Given the description of an element on the screen output the (x, y) to click on. 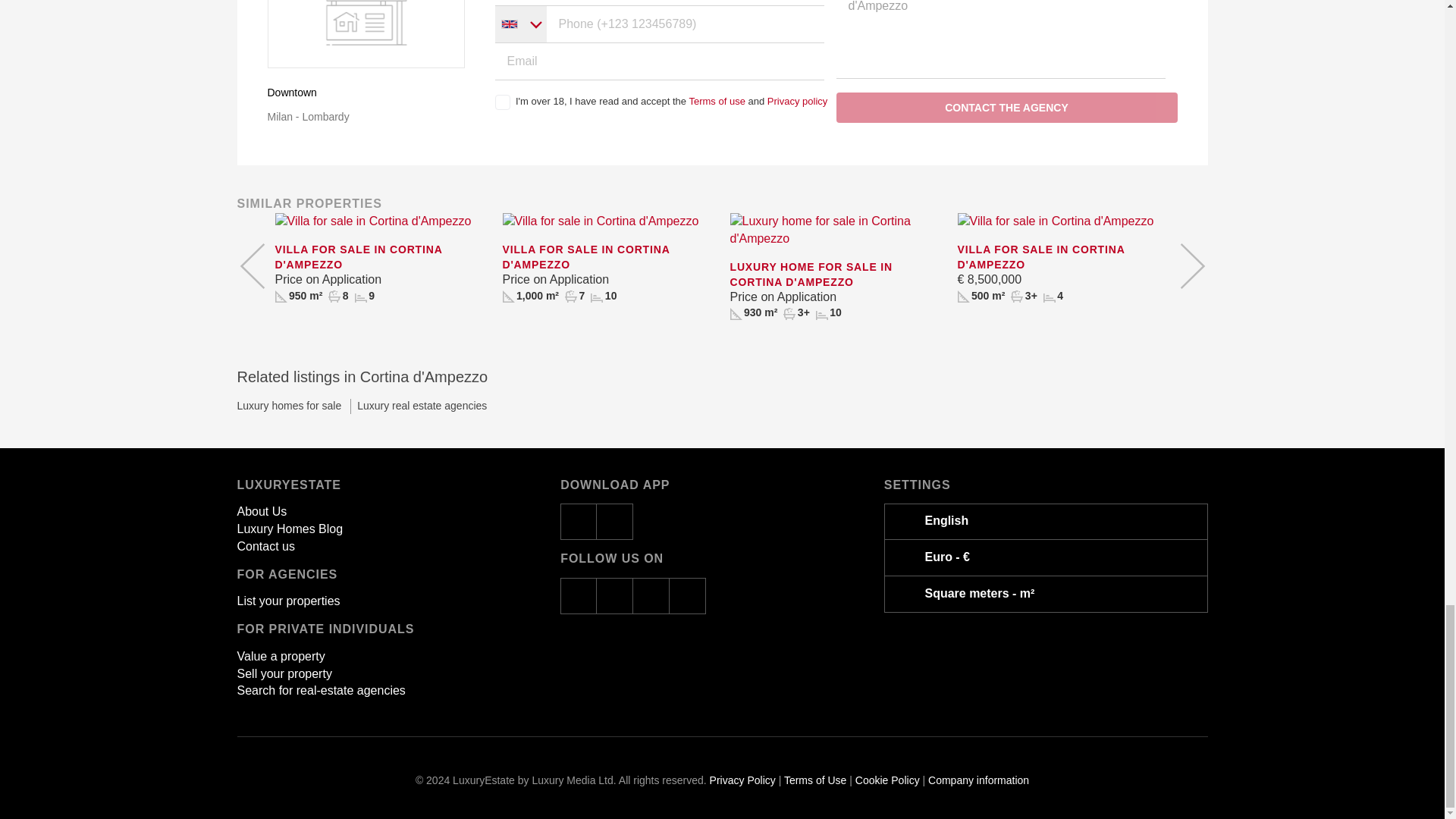
VILLA FOR SALE IN CORTINA D'AMPEZZO (608, 257)
VILLA FOR SALE IN CORTINA D'AMPEZZO (1062, 257)
About Us (260, 511)
LuxuryEstate android app (614, 521)
Luxury real estate agencies (414, 405)
Downtown (290, 92)
on (502, 102)
CONTACT THE AGENCY (1005, 107)
Contact us (264, 545)
VILLA FOR SALE IN CORTINA D'AMPEZZO (380, 257)
Privacy policy (797, 101)
LUXURY HOME FOR SALE IN CORTINA D'AMPEZZO (835, 275)
Luxury Homes Blog (288, 528)
Advertise your luxury property on LuxuryEstate (287, 600)
